Given the description of an element on the screen output the (x, y) to click on. 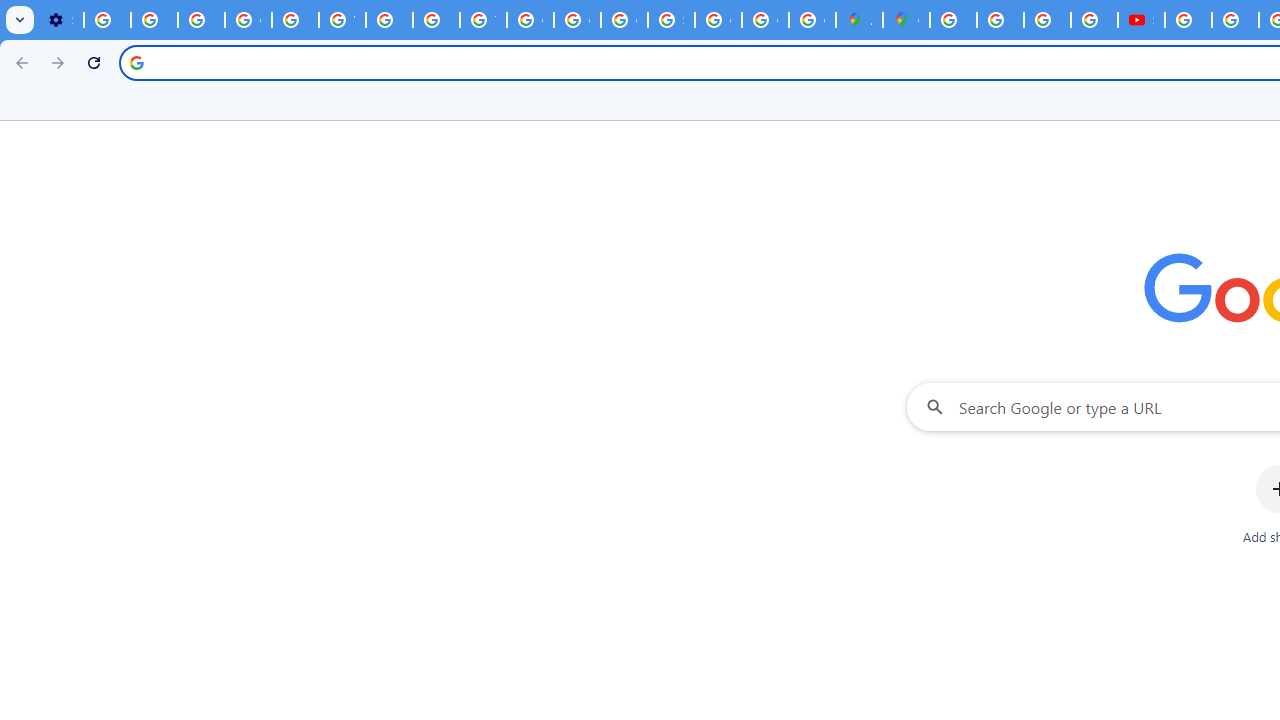
https://scholar.google.com/ (389, 20)
